Given the description of an element on the screen output the (x, y) to click on. 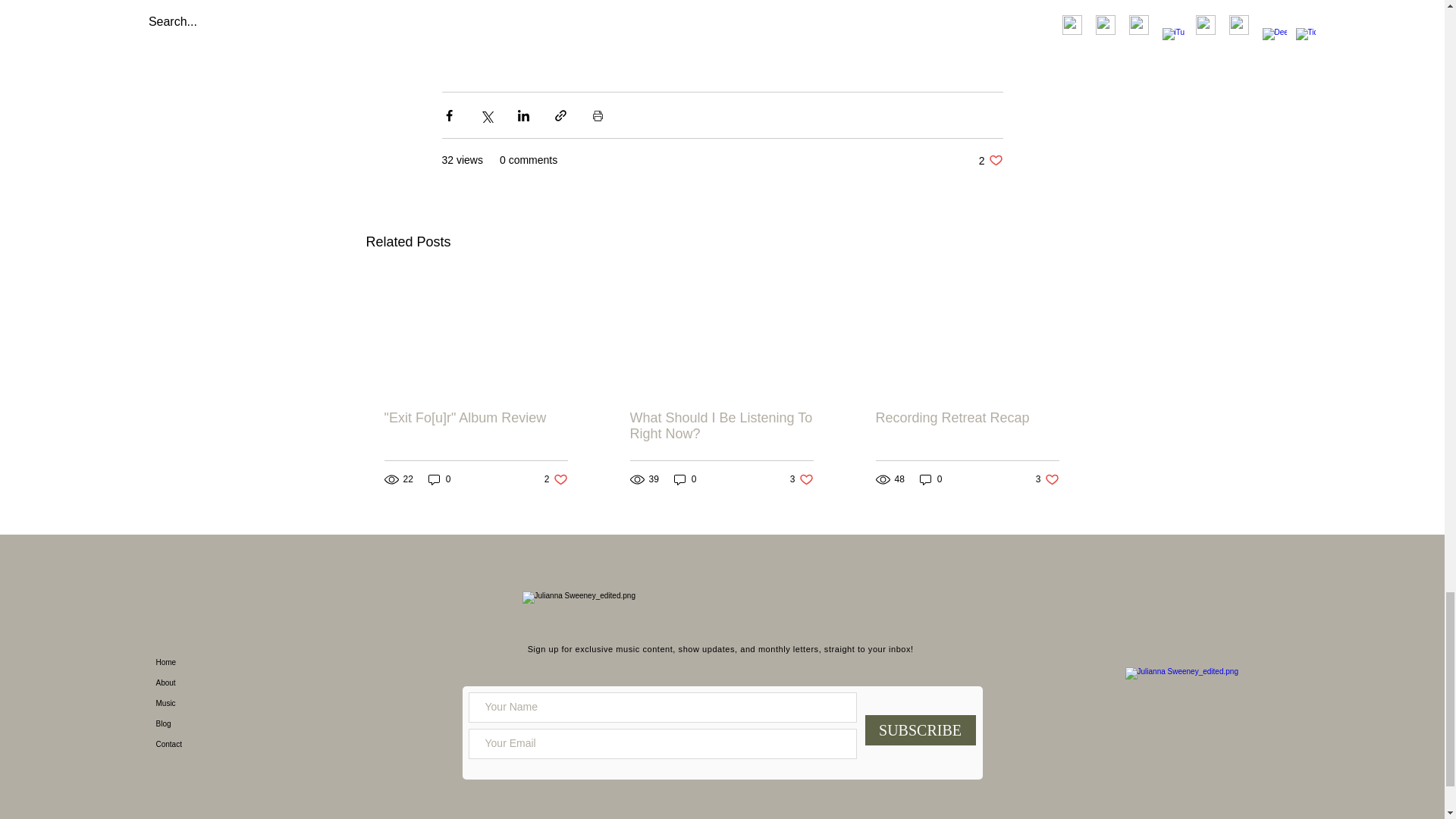
0 (801, 479)
What Should I Be Listening To Right Now? (685, 479)
0 (720, 426)
